Given the description of an element on the screen output the (x, y) to click on. 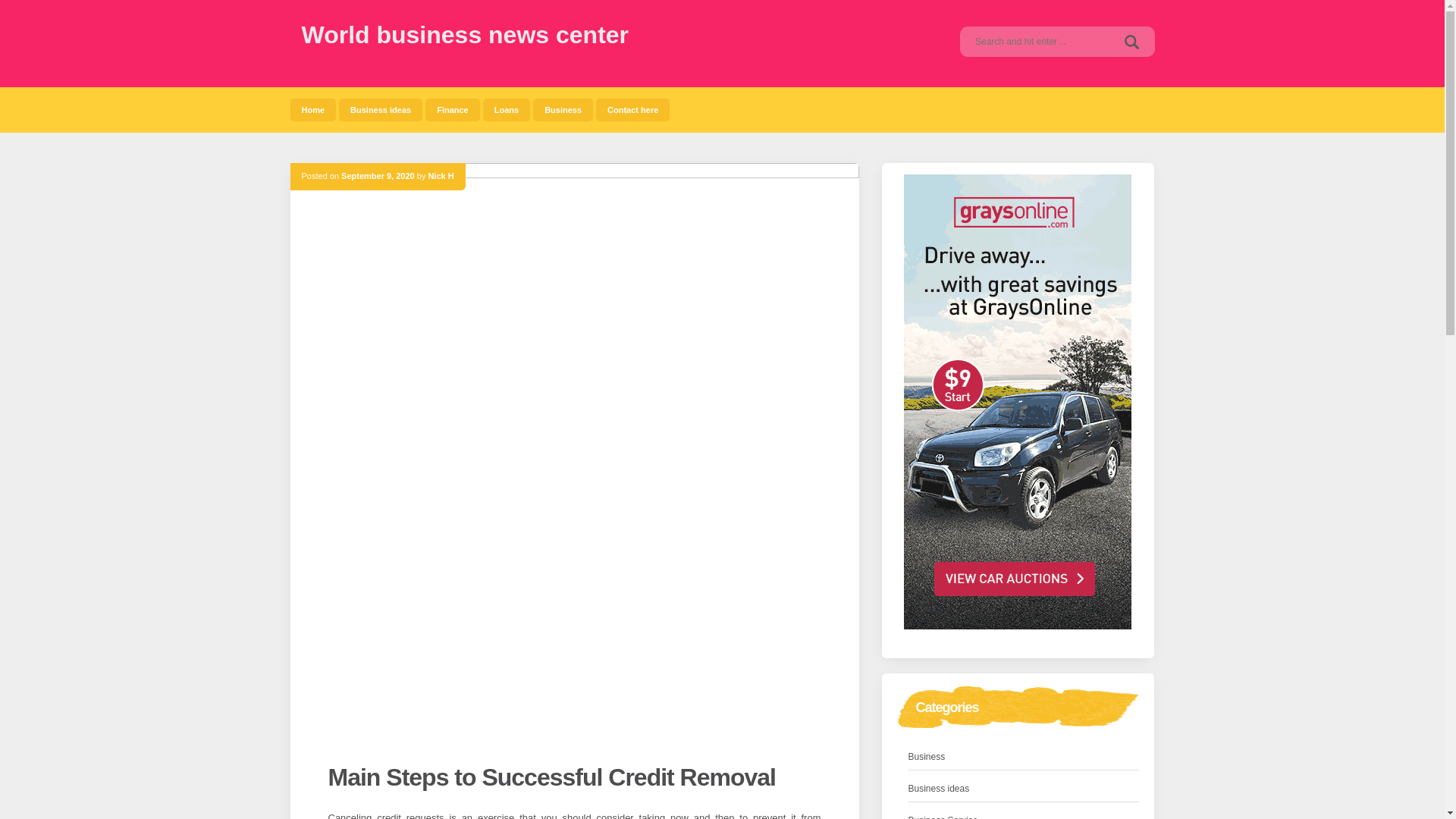
Loans (506, 109)
Finance (452, 109)
Loans (506, 109)
Finance (452, 109)
Business (562, 109)
Home (312, 109)
Business ideas (380, 109)
Business ideas (380, 109)
Business (562, 109)
Business ideas (938, 788)
Nick H (440, 175)
Business (926, 756)
Search (1131, 41)
Contact here (632, 109)
Home (312, 109)
